Given the description of an element on the screen output the (x, y) to click on. 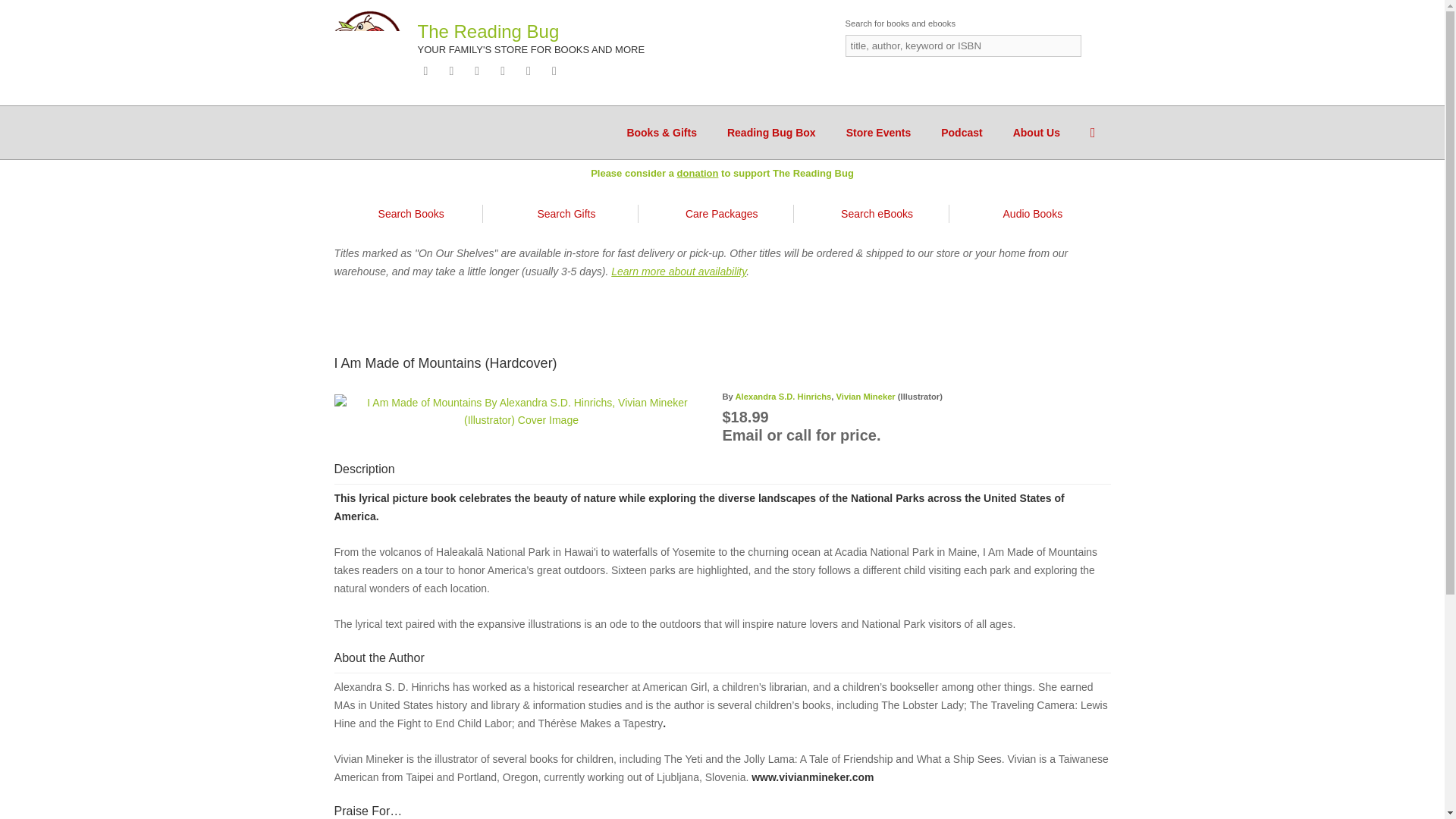
facebook (453, 71)
instagram (505, 71)
The Reading Bug (487, 31)
join our mailing list (427, 71)
Search (1096, 46)
twitter (480, 71)
yelp (557, 71)
Enter the terms you wish to search for. (962, 45)
Home (371, 42)
Home (487, 31)
youtube (531, 71)
Search (1096, 46)
